Given the description of an element on the screen output the (x, y) to click on. 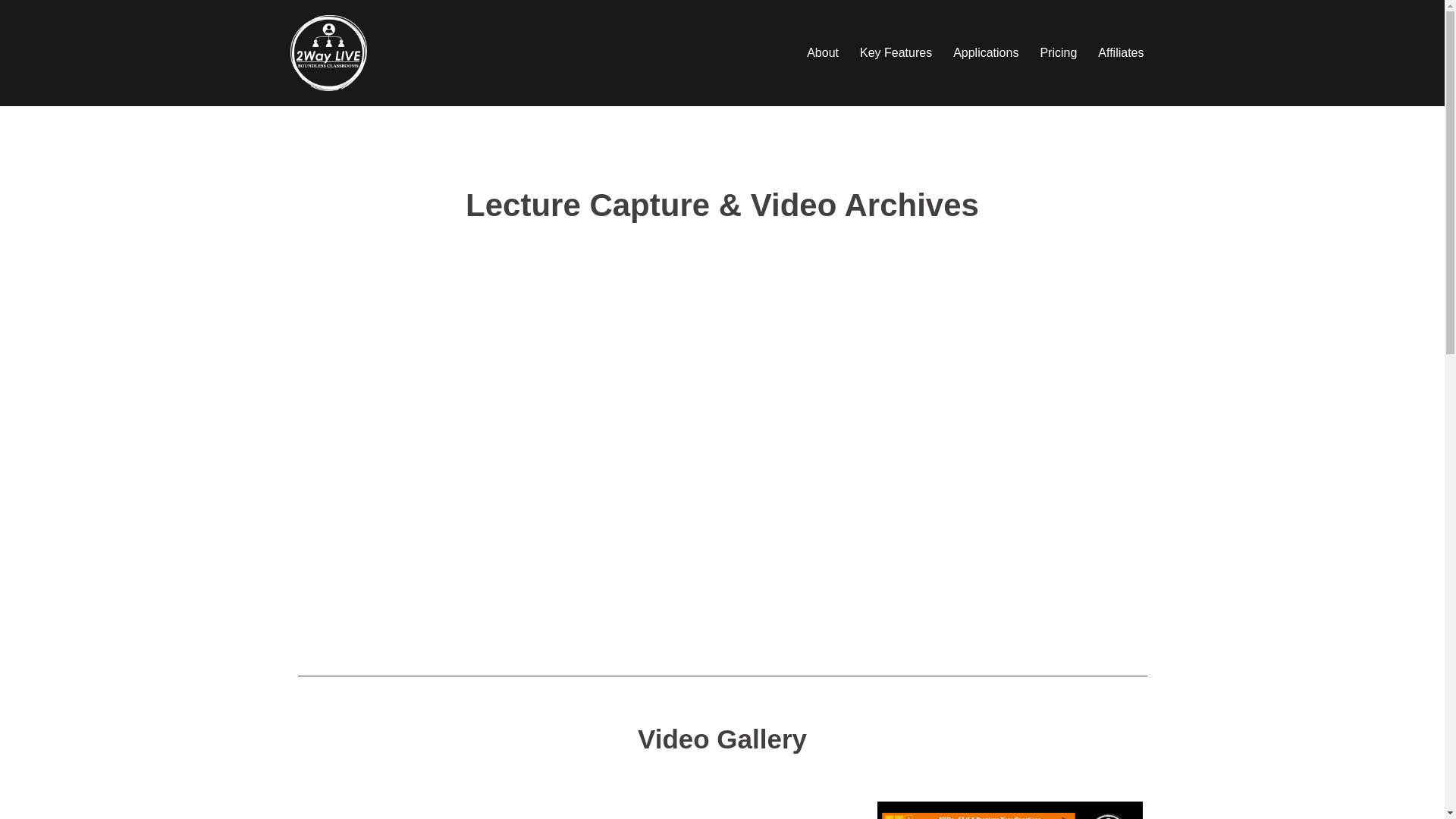
Applications Element type: text (985, 52)
About Element type: text (822, 52)
Affiliates Element type: text (1120, 52)
Key Features Element type: text (895, 52)
Pricing Element type: text (1057, 52)
